Given the description of an element on the screen output the (x, y) to click on. 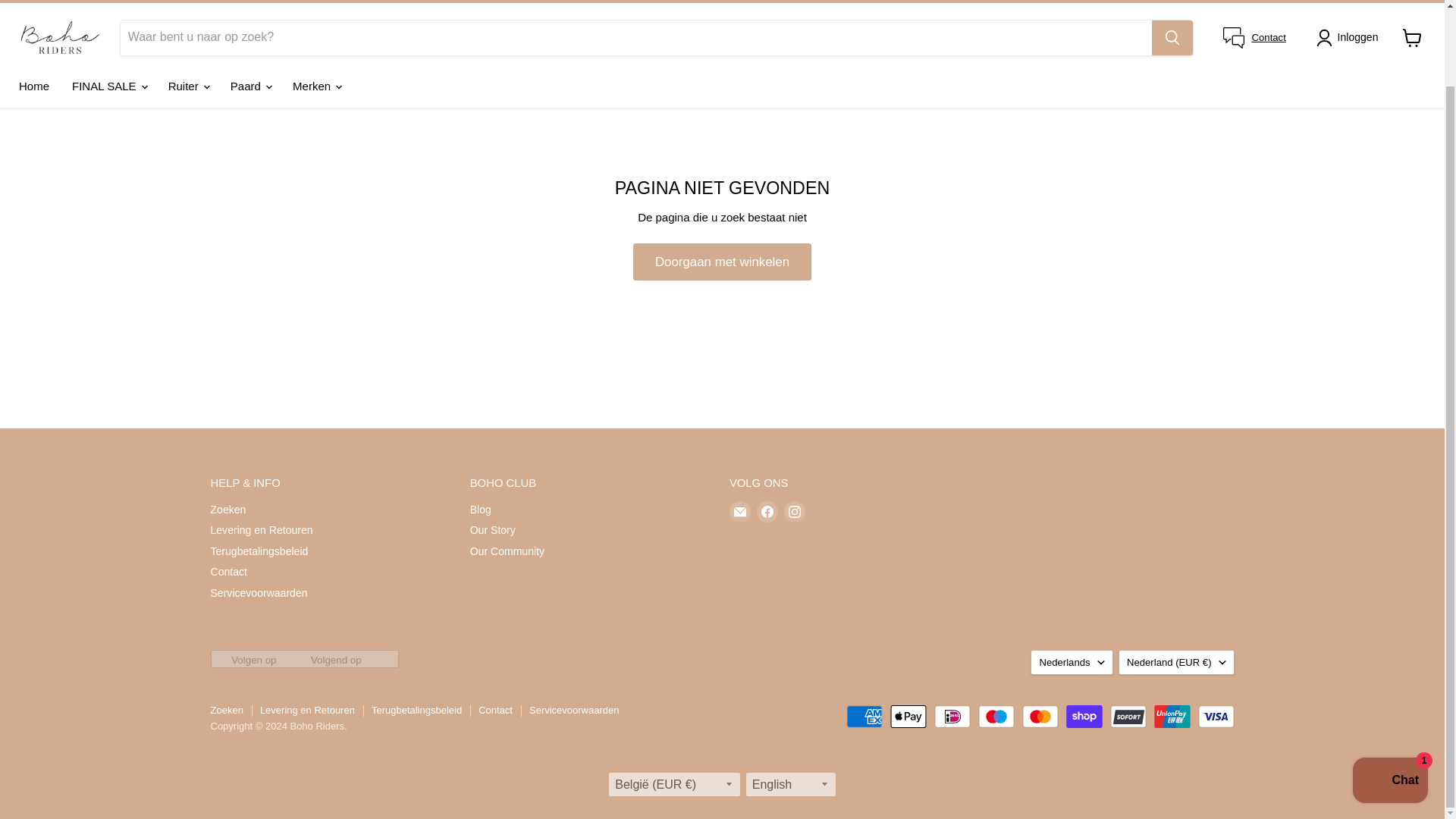
Maestro (996, 716)
Mastercard (1040, 716)
iDEAL (952, 716)
Email (740, 511)
American Express (863, 716)
Shop Pay (1083, 716)
Winkelwagen bekijken (1411, 37)
Home (34, 85)
webshop-chat van Shopify (1390, 696)
Inloggen (1350, 37)
Apple Pay (907, 716)
Contact (1268, 37)
Instagram (794, 511)
Contact (1268, 37)
Facebook (767, 511)
